Given the description of an element on the screen output the (x, y) to click on. 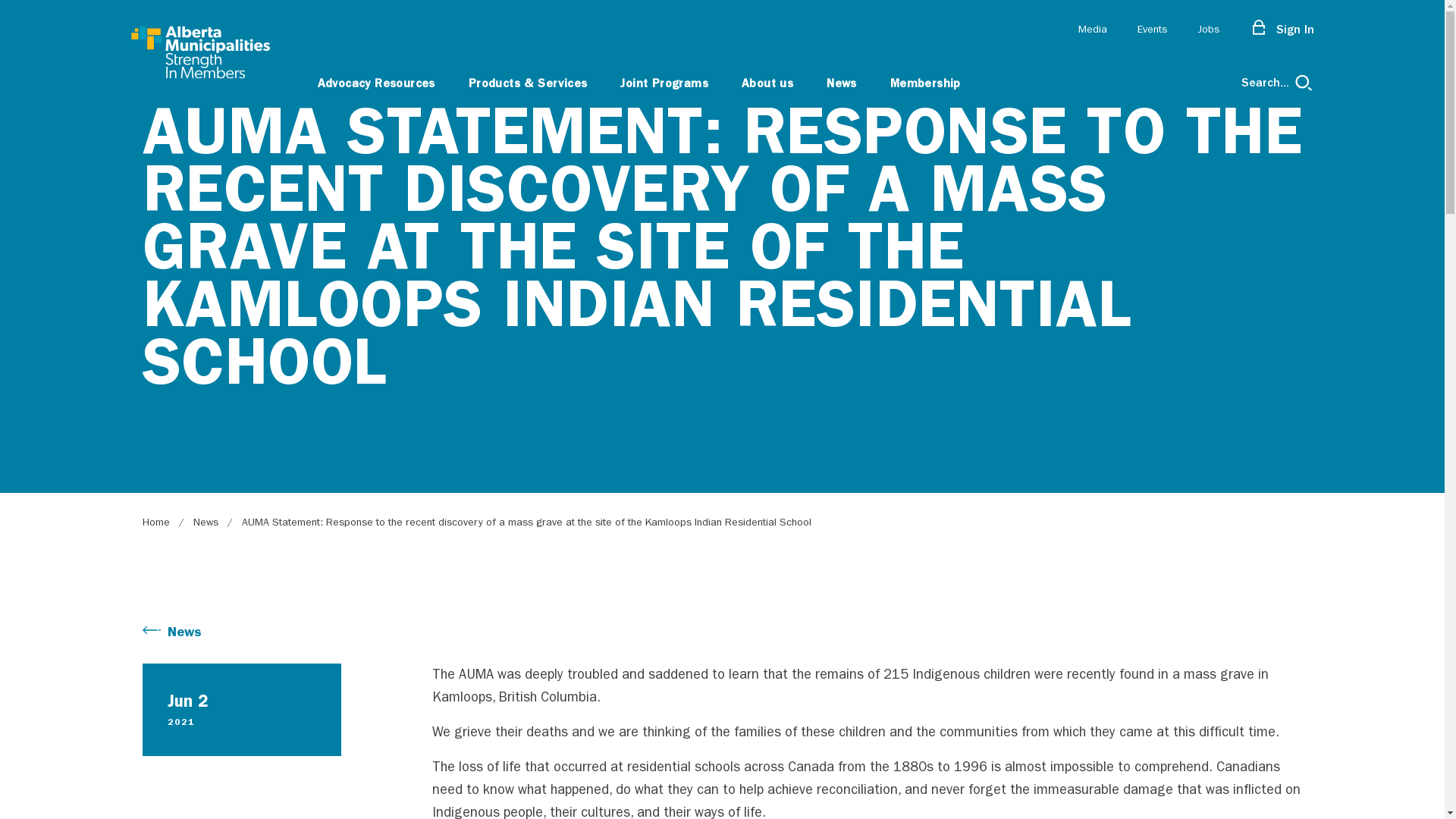
SKIP TO MAIN CONTENT Element type: text (17, 18)
Membership Element type: text (925, 82)
Products & Services Element type: text (527, 82)
Advocacy Resources Element type: text (375, 82)
News Element type: text (204, 521)
News Element type: text (841, 82)
Search... Element type: text (1276, 82)
Jobs Element type: text (1207, 29)
Events Element type: text (1152, 29)
Home Element type: text (155, 521)
Media Element type: text (1092, 29)
Joint Programs Element type: text (663, 82)
About us Element type: text (766, 82)
Sign In Element type: text (1281, 29)
News Element type: text (181, 630)
